Given the description of an element on the screen output the (x, y) to click on. 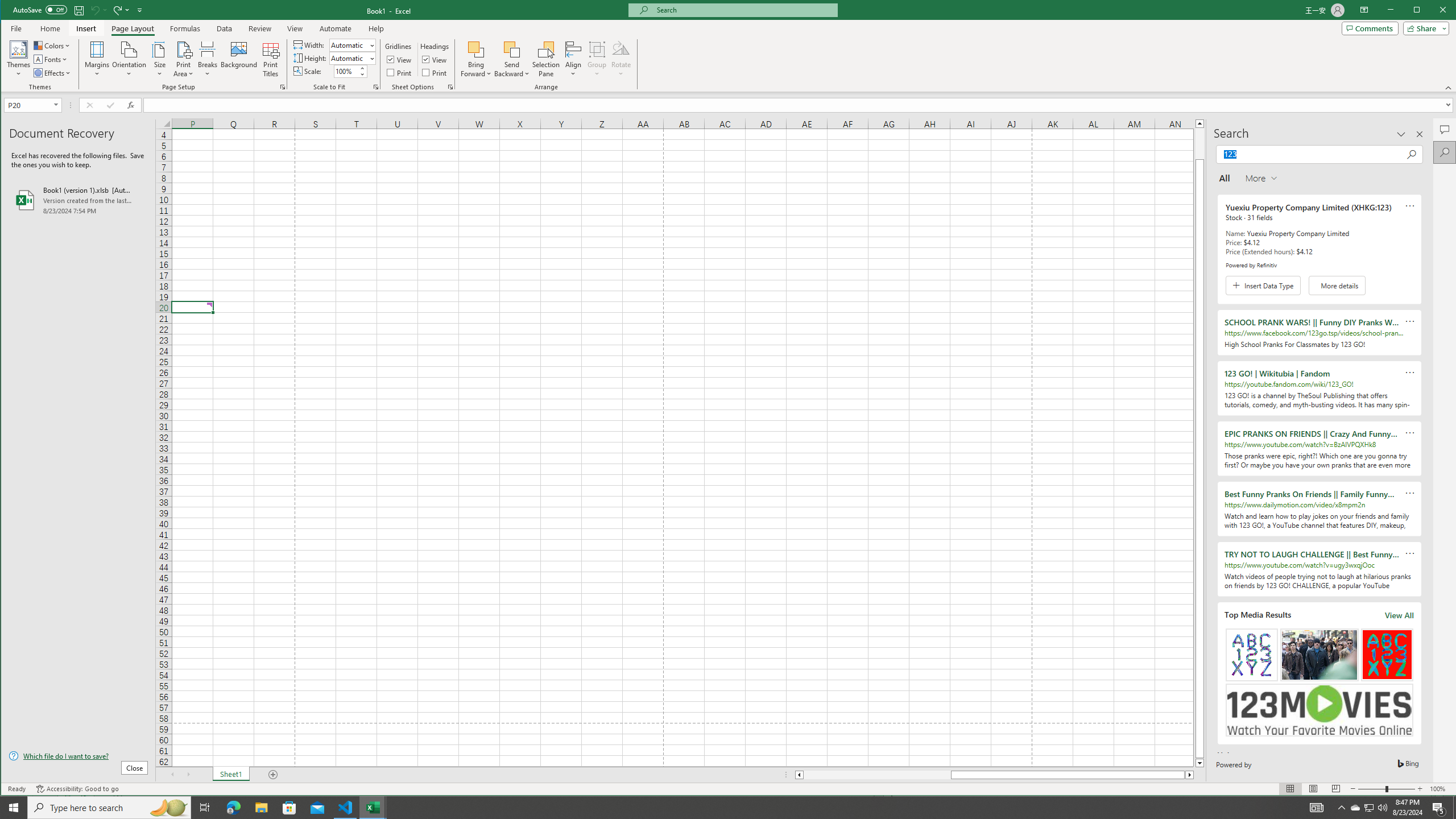
Width (352, 44)
Themes (18, 59)
Less (361, 73)
Height (349, 58)
Background... (239, 59)
AutomationID: 4105 (1316, 807)
